Given the description of an element on the screen output the (x, y) to click on. 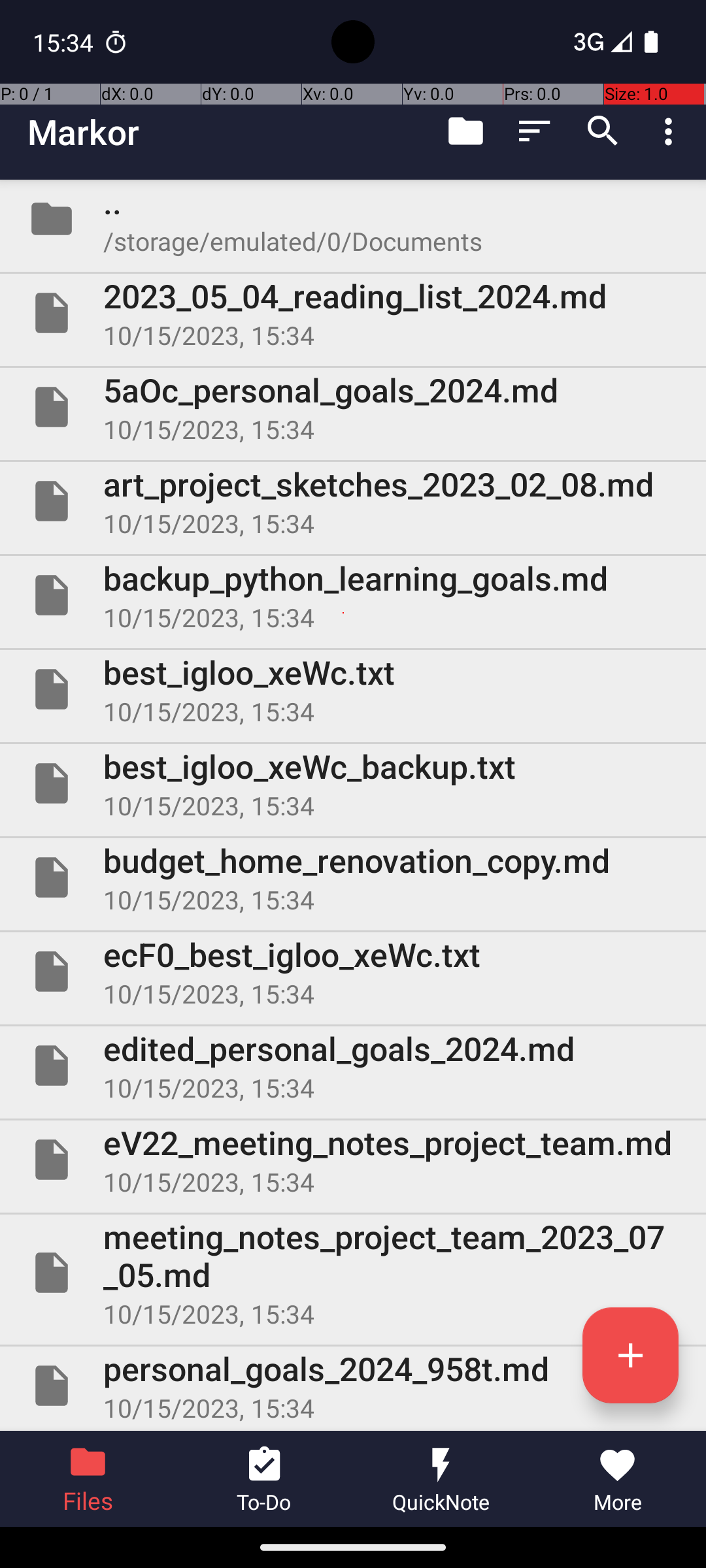
File 2023_05_04_reading_list_2024.md  Element type: android.widget.LinearLayout (353, 312)
File 5aOc_personal_goals_2024.md  Element type: android.widget.LinearLayout (353, 406)
File art_project_sketches_2023_02_08.md  Element type: android.widget.LinearLayout (353, 500)
File backup_python_learning_goals.md  Element type: android.widget.LinearLayout (353, 594)
File best_igloo_xeWc.txt  Element type: android.widget.LinearLayout (353, 689)
File best_igloo_xeWc_backup.txt  Element type: android.widget.LinearLayout (353, 783)
File budget_home_renovation_copy.md  Element type: android.widget.LinearLayout (353, 877)
File ecF0_best_igloo_xeWc.txt  Element type: android.widget.LinearLayout (353, 971)
File edited_personal_goals_2024.md  Element type: android.widget.LinearLayout (353, 1065)
File eV22_meeting_notes_project_team.md  Element type: android.widget.LinearLayout (353, 1159)
File meeting_notes_project_team_2023_07_05.md  Element type: android.widget.LinearLayout (353, 1272)
File personal_goals_2024_958t.md  Element type: android.widget.LinearLayout (353, 1385)
